Given the description of an element on the screen output the (x, y) to click on. 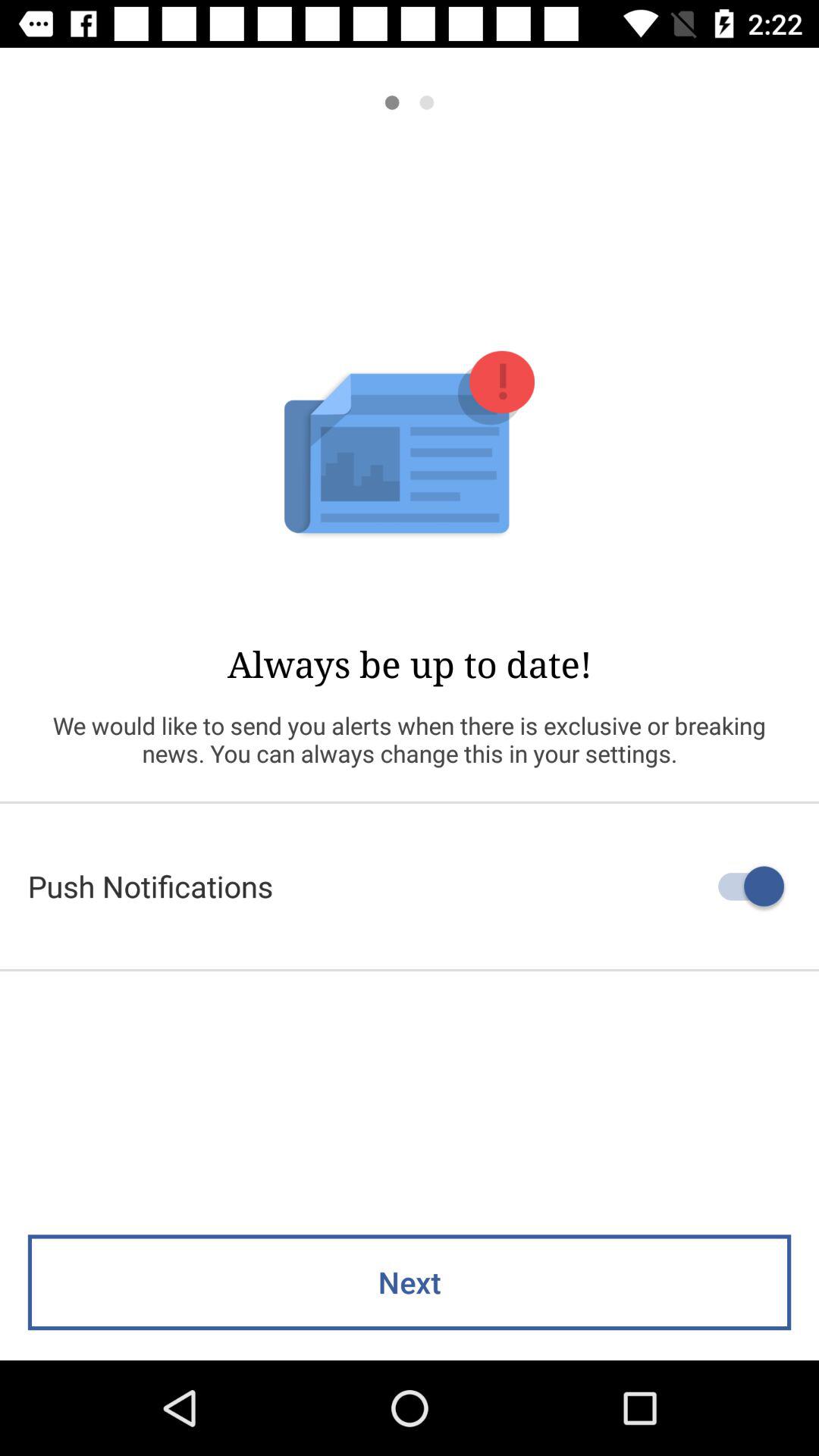
scroll until the next item (409, 1282)
